Given the description of an element on the screen output the (x, y) to click on. 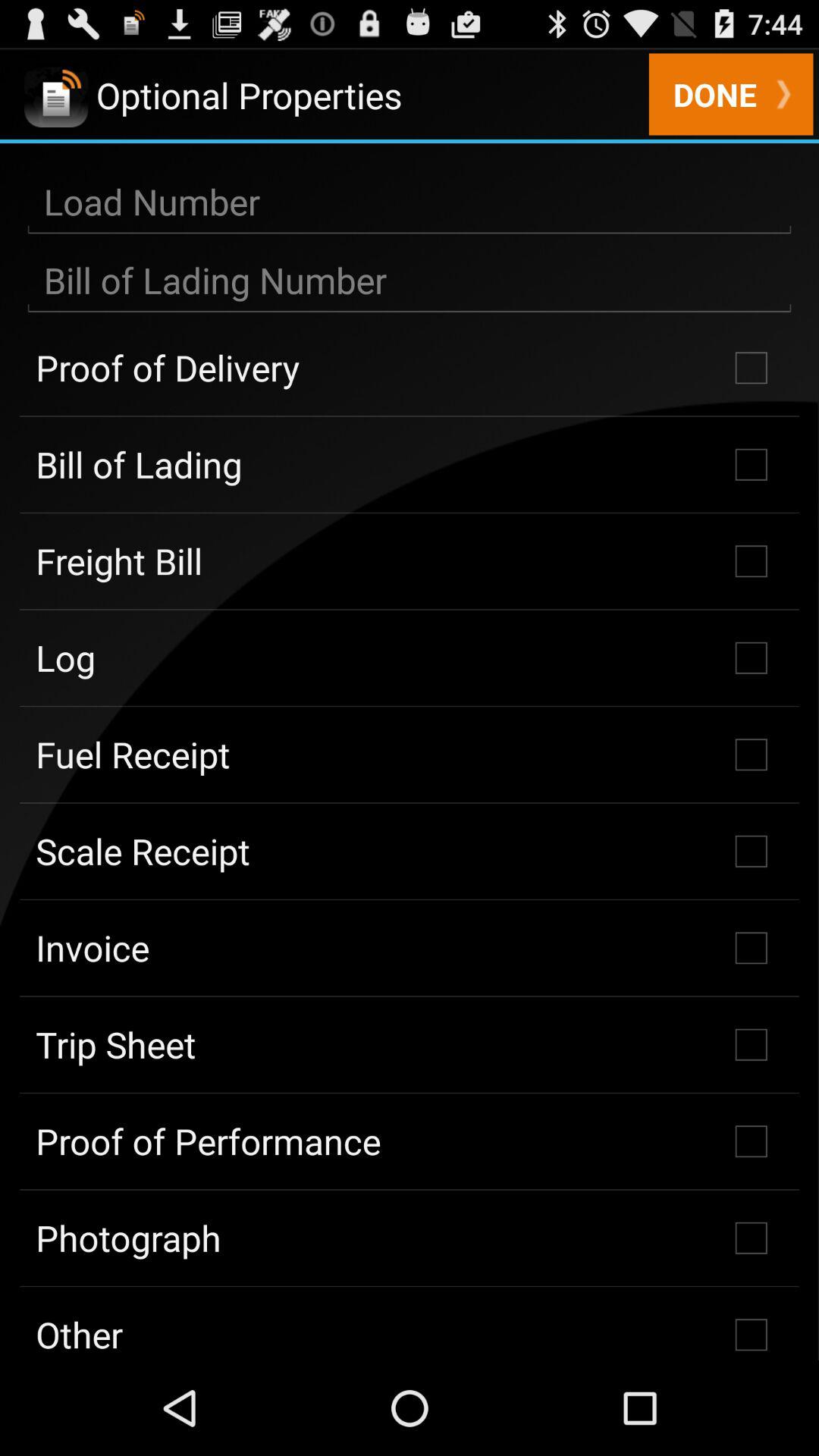
swipe to the trip sheet icon (409, 1044)
